Given the description of an element on the screen output the (x, y) to click on. 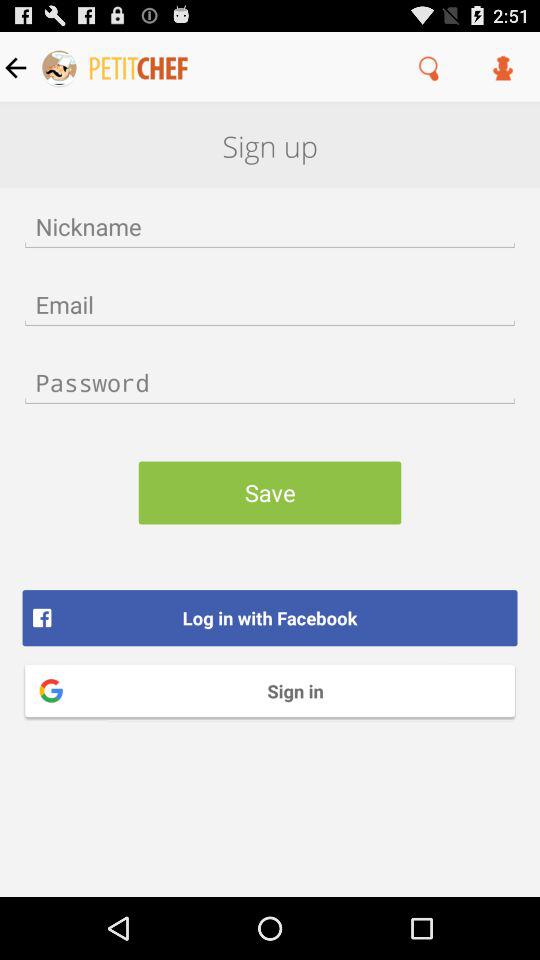
area to input email (269, 304)
